Given the description of an element on the screen output the (x, y) to click on. 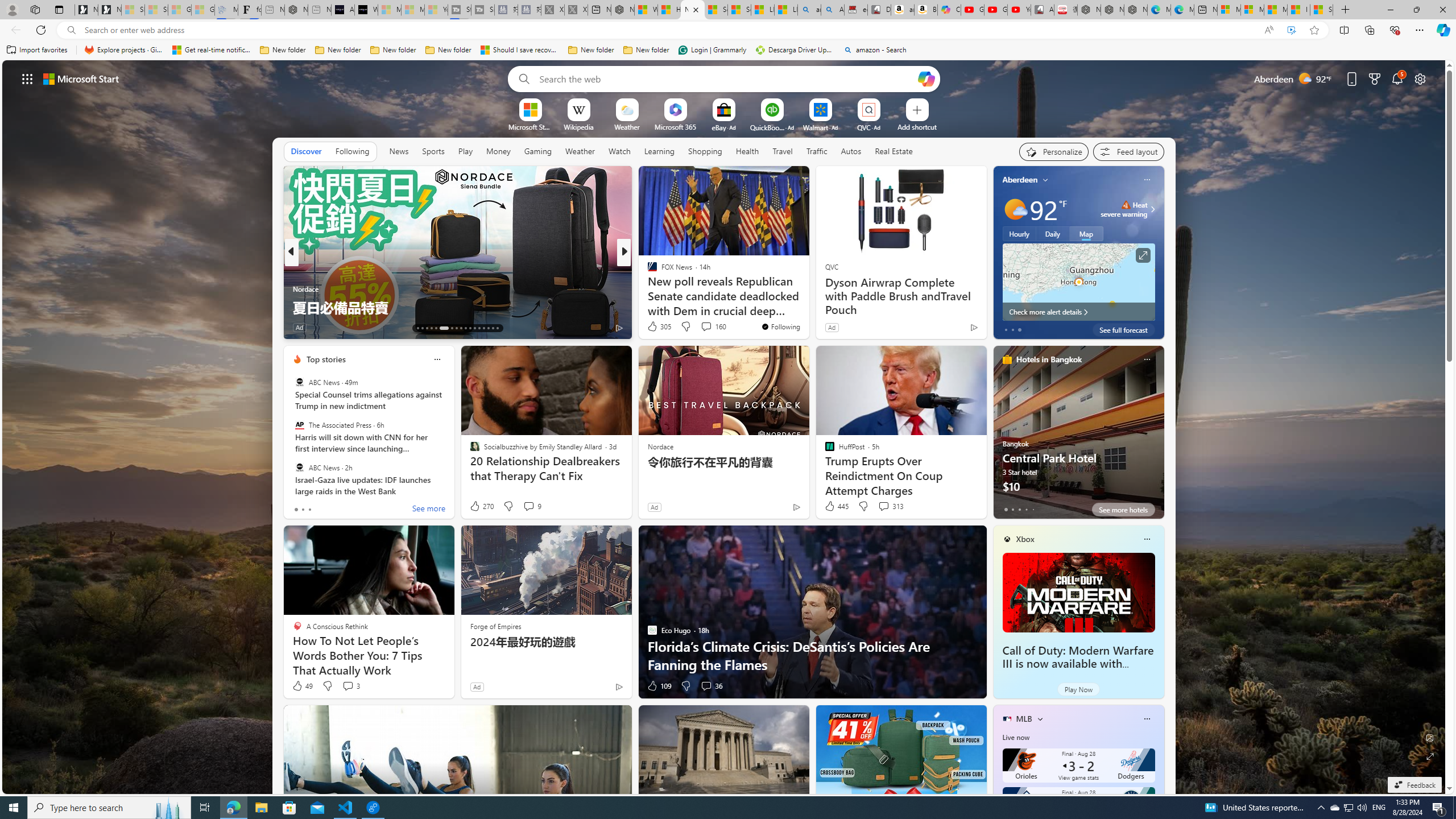
Ad Choice (619, 686)
I Gained 20 Pounds of Muscle in 30 Days! | Watch (1298, 9)
All Cubot phones (1042, 9)
You're following FOX News (780, 326)
Colin Allred Two Points Behind Ted Cruz in Second Texas Poll (807, 298)
MLB (1024, 718)
Amazon Echo Dot PNG - Search Images (832, 9)
Tom's Guide (647, 288)
tab-0 (1005, 509)
5 tips for using a TV as a PC monitor (807, 307)
Play Now (1078, 689)
Enter your search term (726, 78)
View comments 48 Comment (6, 327)
